Given the description of an element on the screen output the (x, y) to click on. 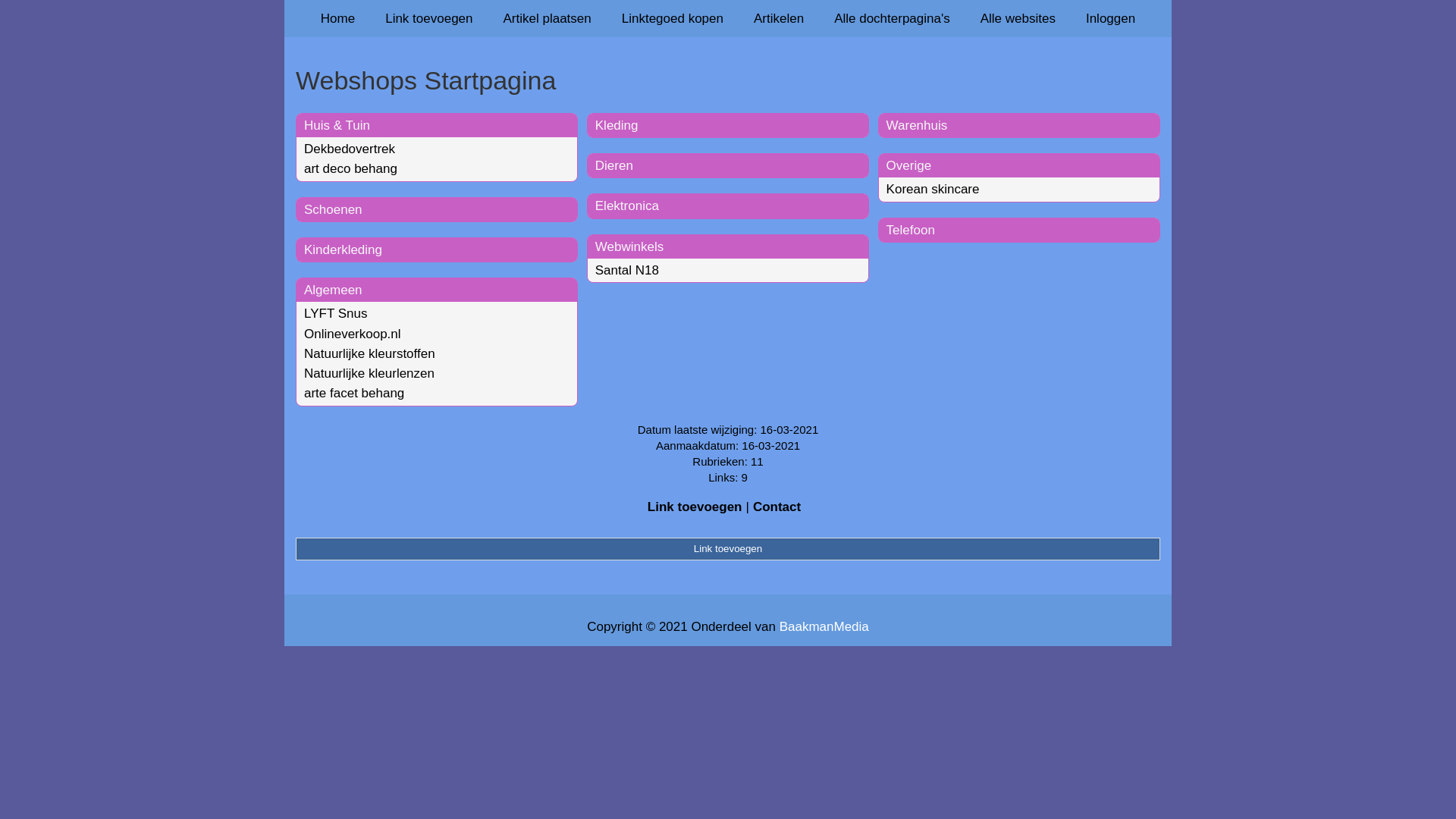
Dekbedovertrek Element type: text (349, 148)
Contact Element type: text (776, 506)
Santal N18 Element type: text (626, 270)
Onlineverkoop.nl Element type: text (352, 333)
Overige Element type: text (908, 165)
Telefoon Element type: text (910, 229)
Alle dochterpagina's Element type: text (892, 18)
Kinderkleding Element type: text (343, 249)
Natuurlijke kleurstoffen Element type: text (369, 353)
Dieren Element type: text (614, 165)
art deco behang Element type: text (350, 168)
Alle websites Element type: text (1017, 18)
Kleding Element type: text (616, 125)
BaakmanMedia Element type: text (824, 626)
Warenhuis Element type: text (916, 125)
Natuurlijke kleurlenzen Element type: text (369, 373)
Link toevoegen Element type: text (727, 548)
Artikel plaatsen Element type: text (547, 18)
LYFT Snus Element type: text (335, 313)
Home Element type: text (337, 18)
arte facet behang Element type: text (354, 392)
Webshops Startpagina Element type: text (727, 80)
Algemeen Element type: text (333, 289)
Linktegoed kopen Element type: text (672, 18)
Artikelen Element type: text (778, 18)
Link toevoegen Element type: text (694, 506)
Link toevoegen Element type: text (428, 18)
Elektronica Element type: text (626, 205)
Inloggen Element type: text (1110, 18)
Schoenen Element type: text (333, 209)
Webwinkels Element type: text (629, 246)
Huis & Tuin Element type: text (337, 125)
Korean skincare Element type: text (932, 189)
